Given the description of an element on the screen output the (x, y) to click on. 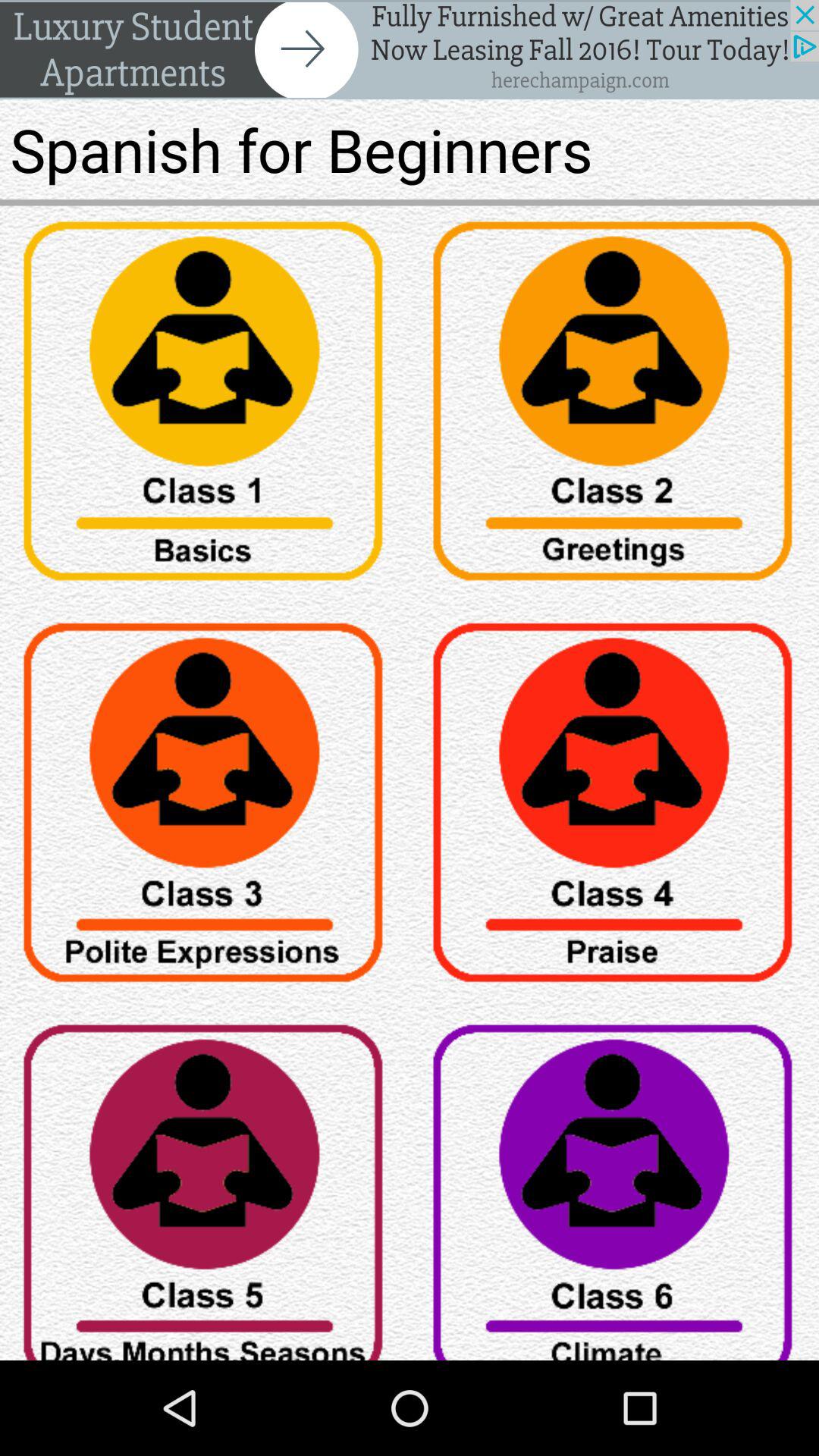
go to class 3 of spanish for beginners (204, 807)
